Given the description of an element on the screen output the (x, y) to click on. 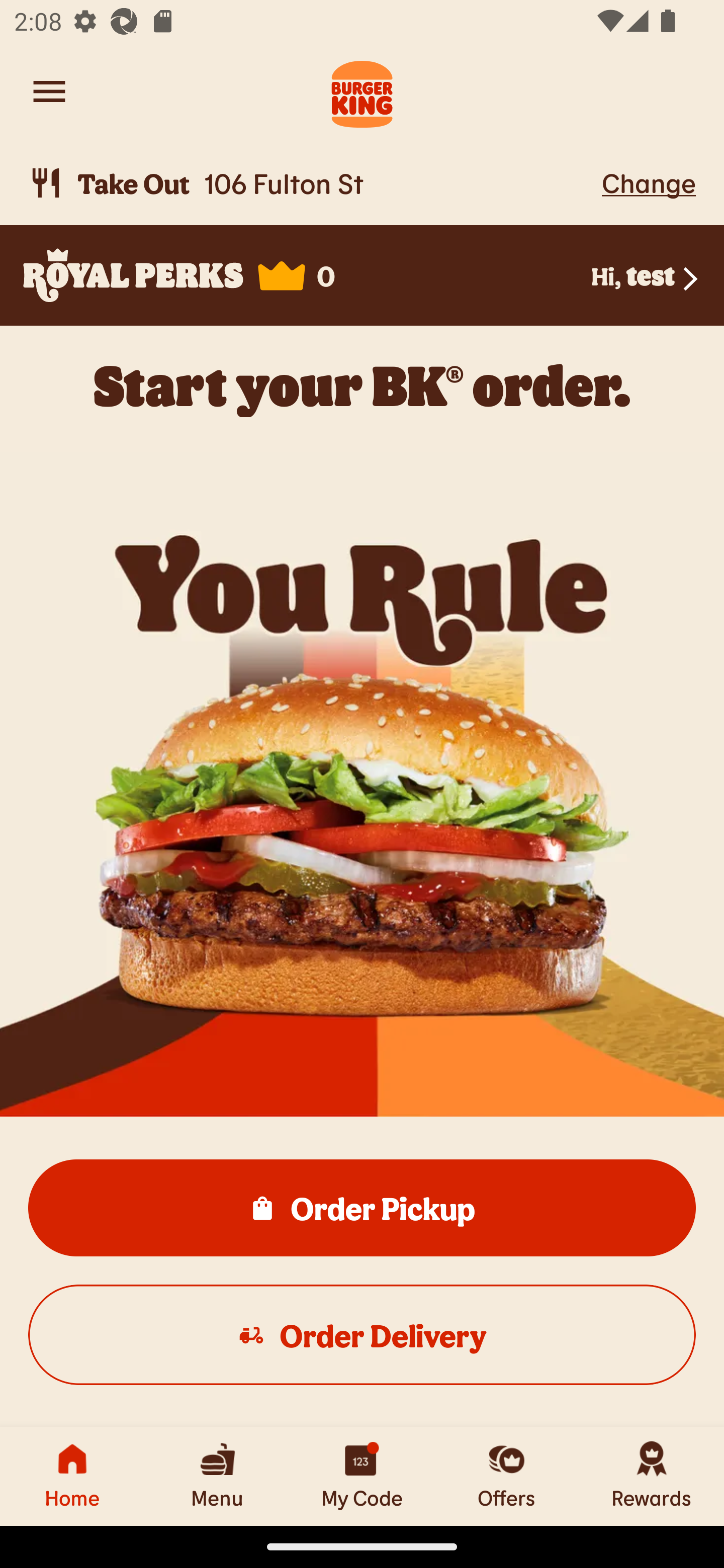
Burger King Logo. Navigate to Home (362, 91)
Navigate to account menu  (49, 91)
Take Out, 106 Fulton St  Take Out 106 Fulton St (311, 183)
Change (648, 182)
Start your BK® order. (361, 385)
, Order Pickup  Order Pickup (361, 1206)
, Order Delivery  Order Delivery (361, 1334)
Home (72, 1475)
Menu (216, 1475)
My Code (361, 1475)
Offers (506, 1475)
Rewards (651, 1475)
